Given the description of an element on the screen output the (x, y) to click on. 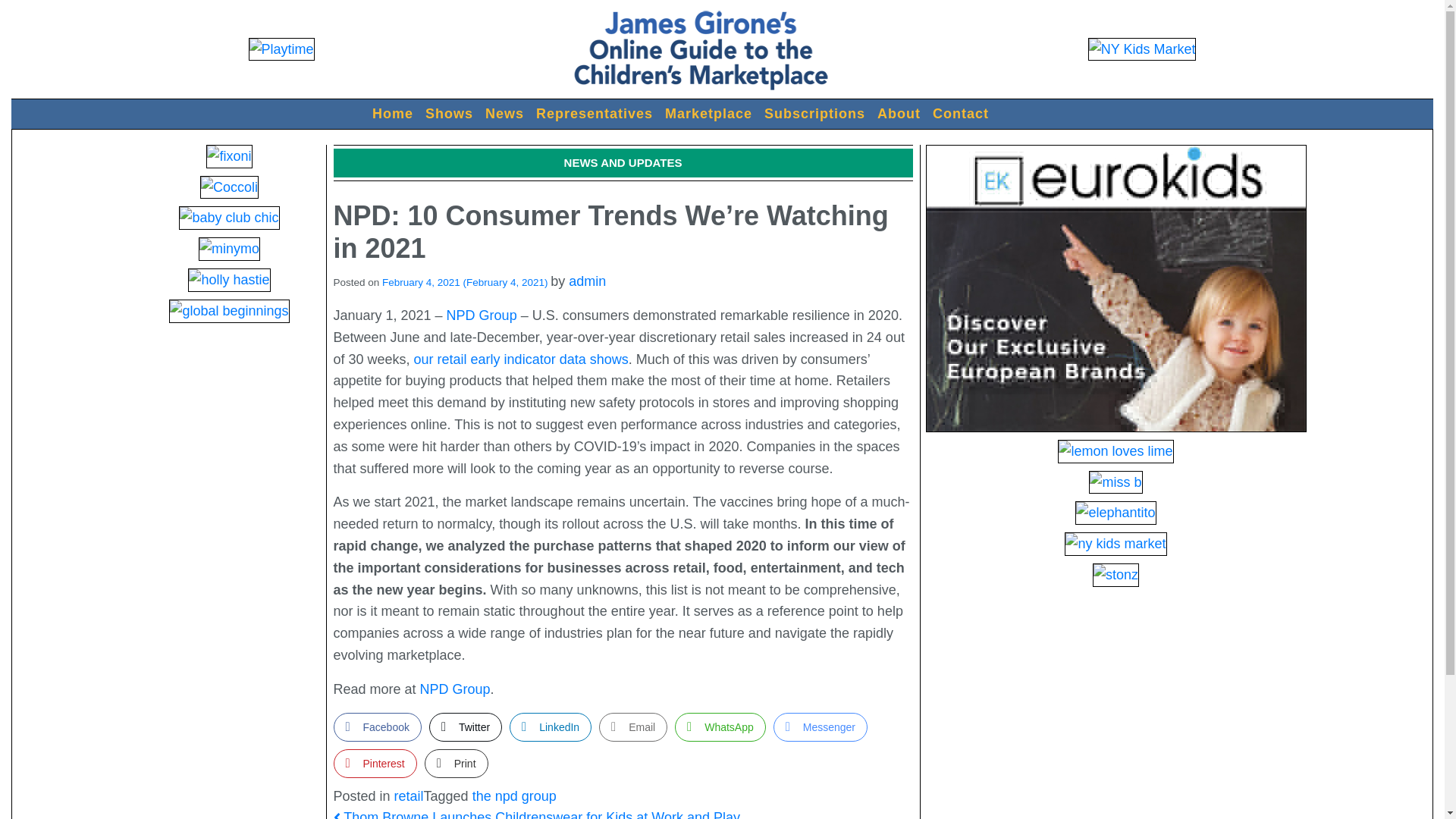
NEWS AND UPDATES (622, 162)
About (898, 113)
admin (587, 281)
Contact (960, 113)
retail (408, 795)
Shows (449, 113)
Print (456, 763)
Subscriptions (814, 113)
Facebook (377, 727)
our retail early indicator data shows (520, 359)
